Given the description of an element on the screen output the (x, y) to click on. 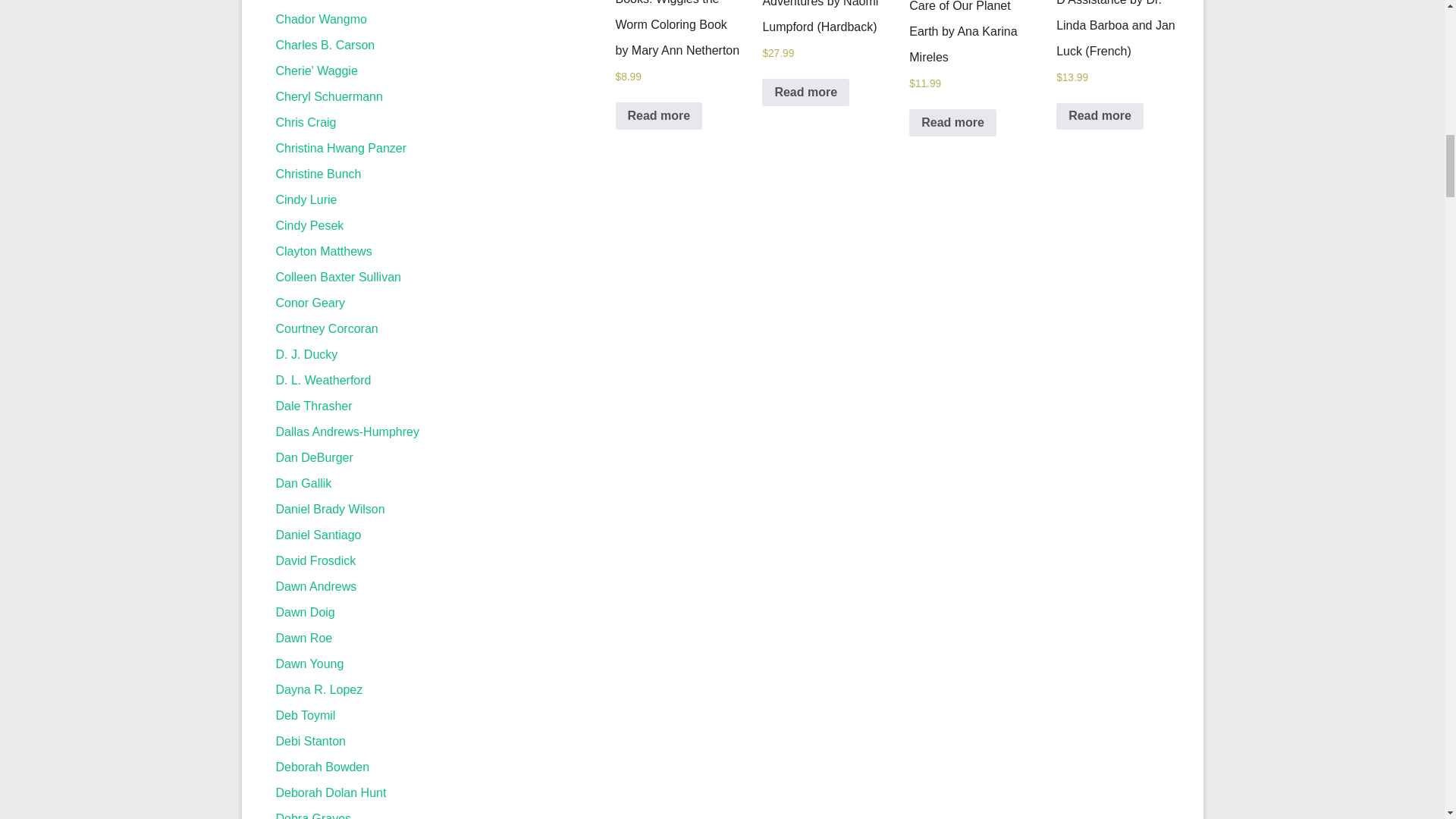
Read more (951, 122)
Read more (1099, 116)
Read more (659, 115)
Read more (804, 92)
